Given the description of an element on the screen output the (x, y) to click on. 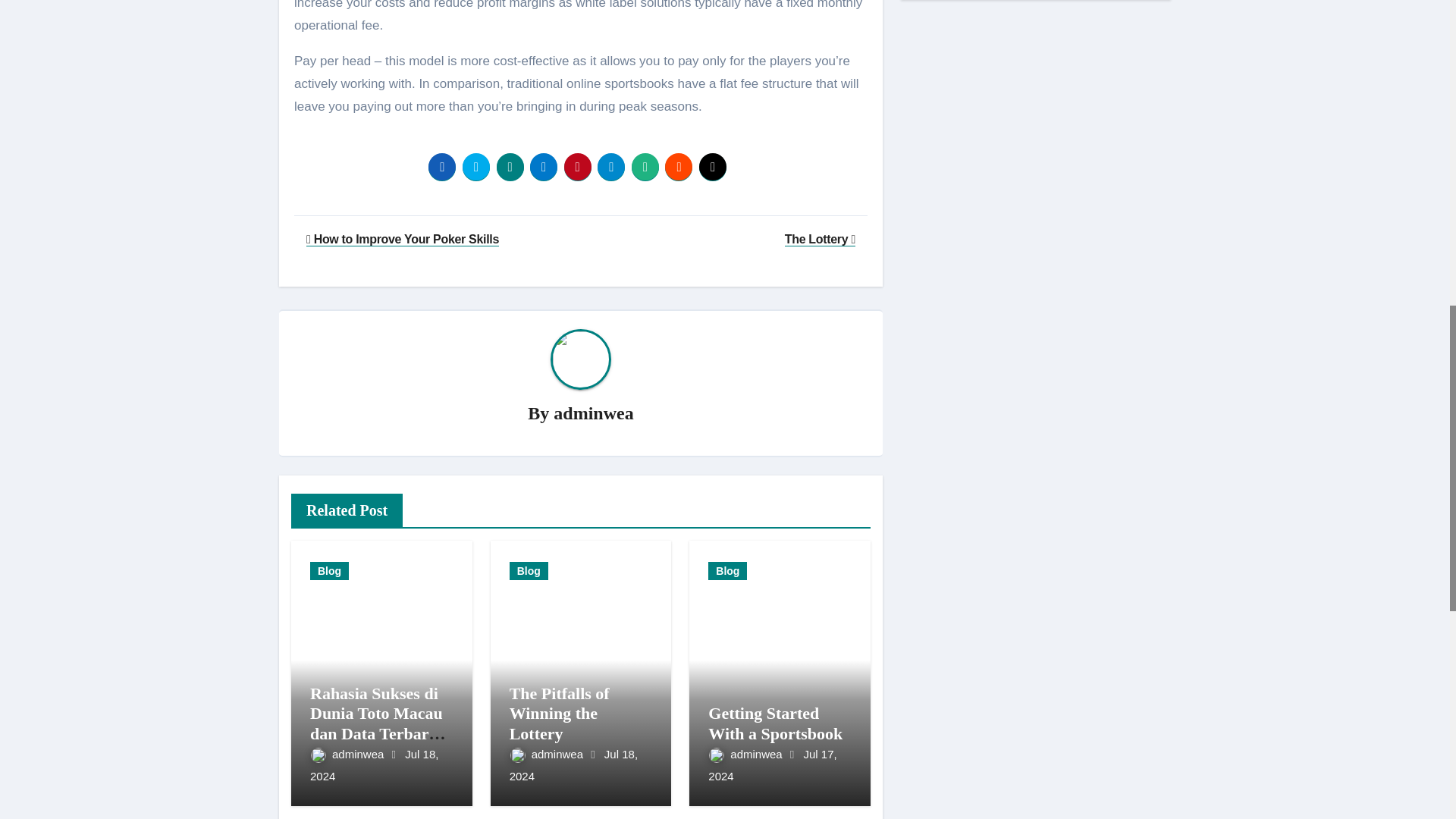
Permalink to: The Pitfalls of Winning the Lottery (559, 712)
Permalink to: Getting Started With a Sportsbook (775, 722)
